Given the description of an element on the screen output the (x, y) to click on. 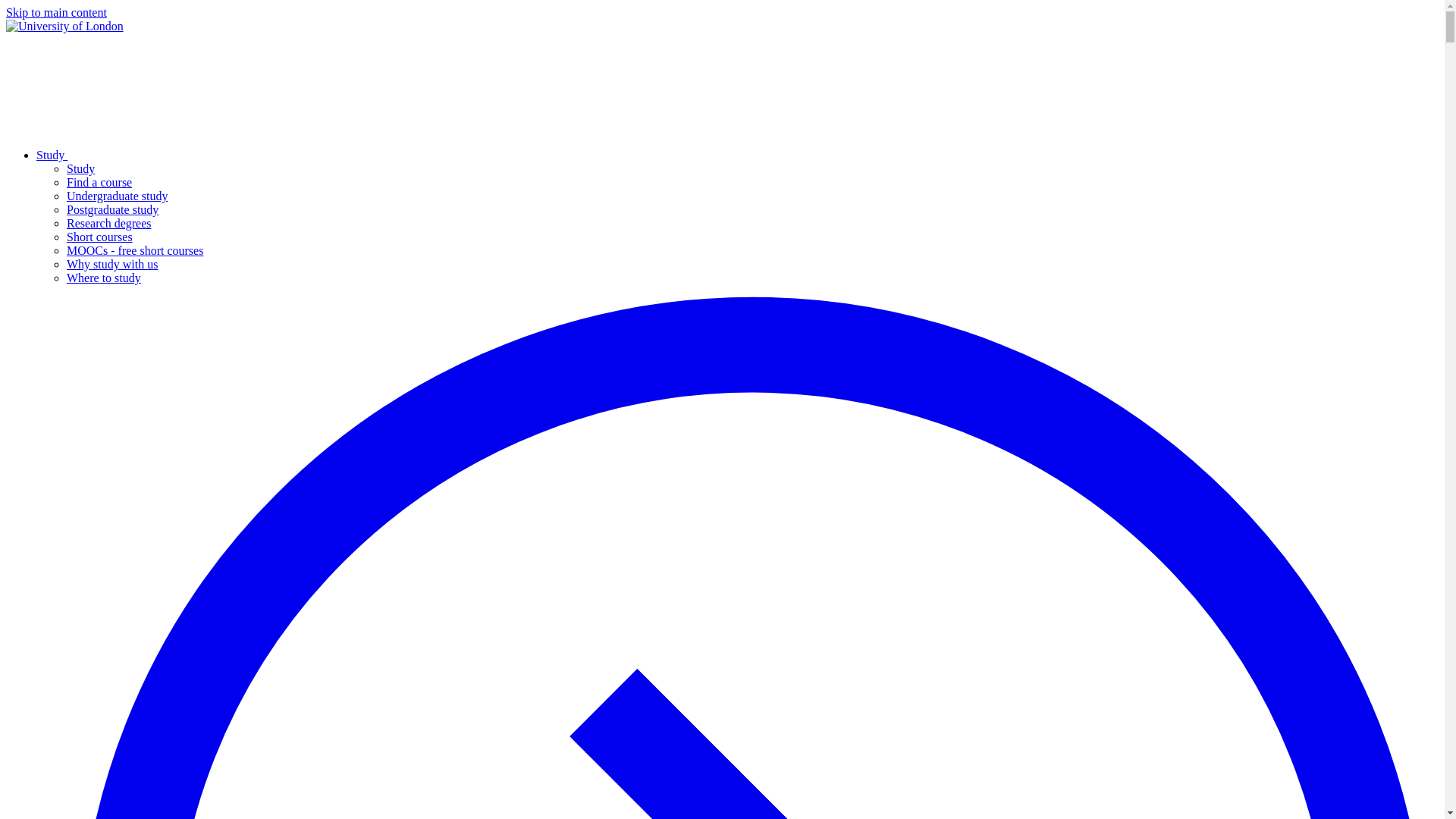
Why study with us (111, 264)
Find a course (99, 182)
Undergraduate study (116, 195)
Research degrees (108, 223)
Skip to main content (55, 11)
Short courses (99, 236)
Study (165, 154)
MOOCs - free short courses (134, 250)
Postgraduate study (112, 209)
Study (80, 168)
